Given the description of an element on the screen output the (x, y) to click on. 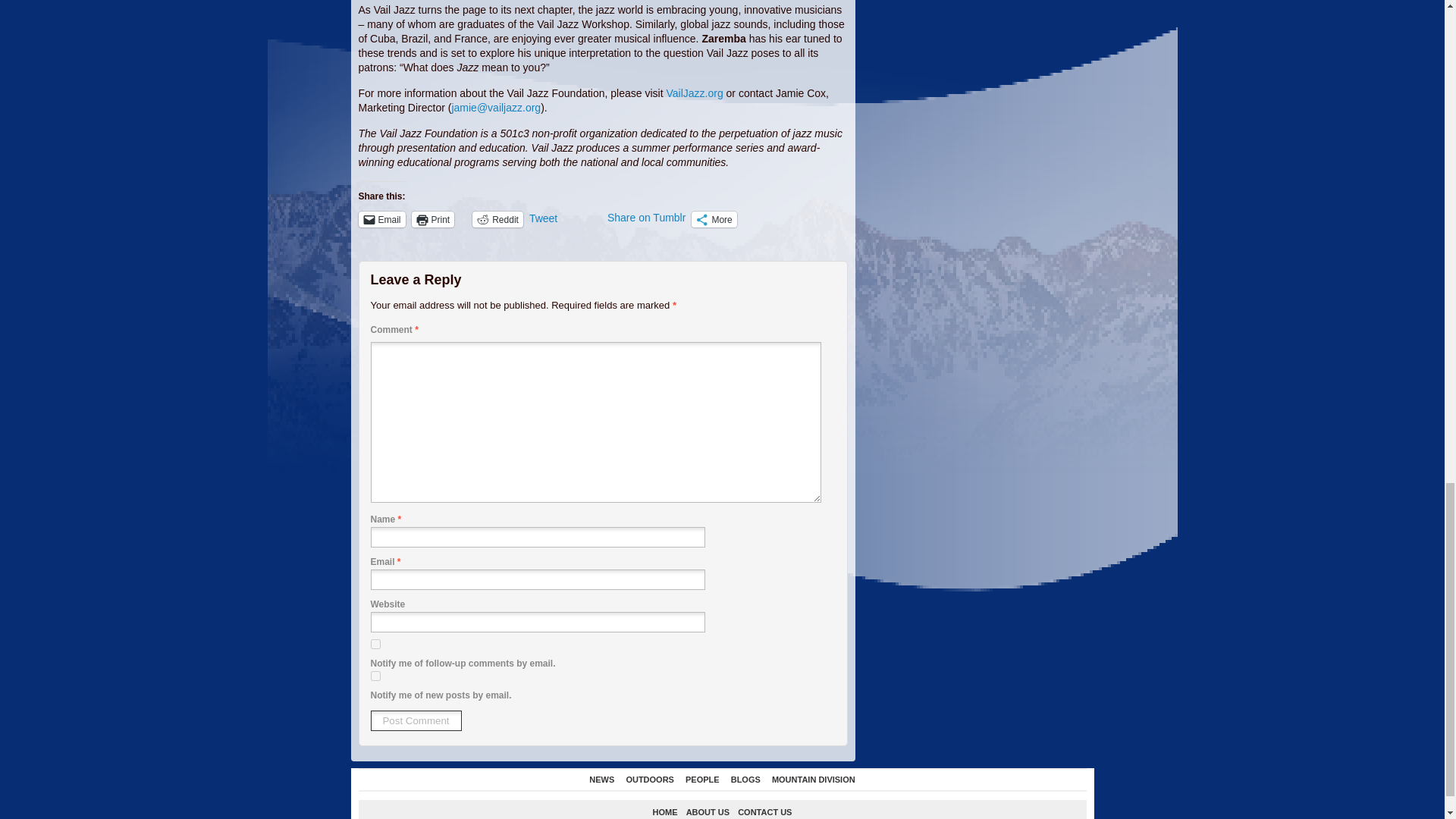
Post Comment (415, 720)
Click to email a link to a friend (381, 219)
Print (433, 219)
Email (381, 219)
subscribe (374, 644)
BLOGS (745, 778)
Click to share on Reddit (496, 219)
OUTDOORS (650, 778)
PEOPLE (702, 778)
subscribe (374, 675)
